Given the description of an element on the screen output the (x, y) to click on. 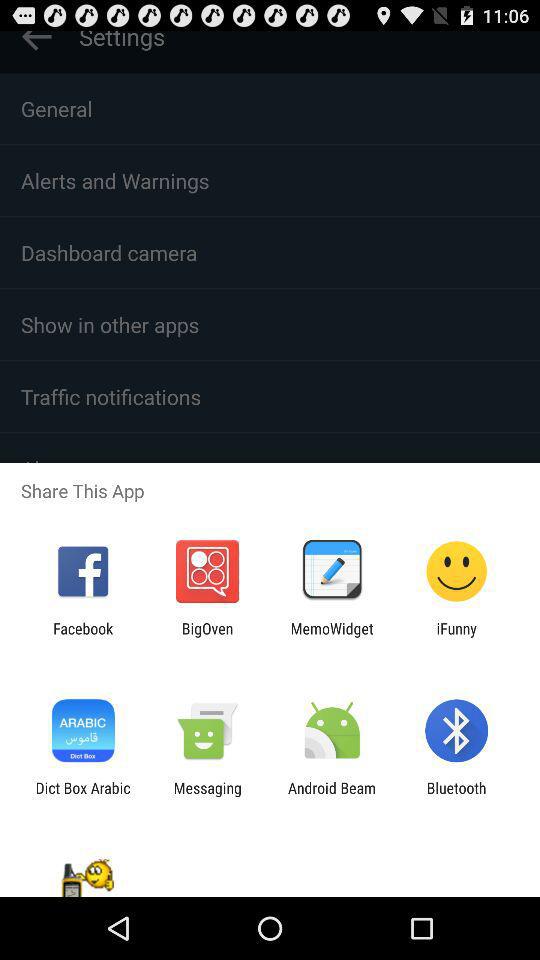
select messaging app (207, 796)
